Given the description of an element on the screen output the (x, y) to click on. 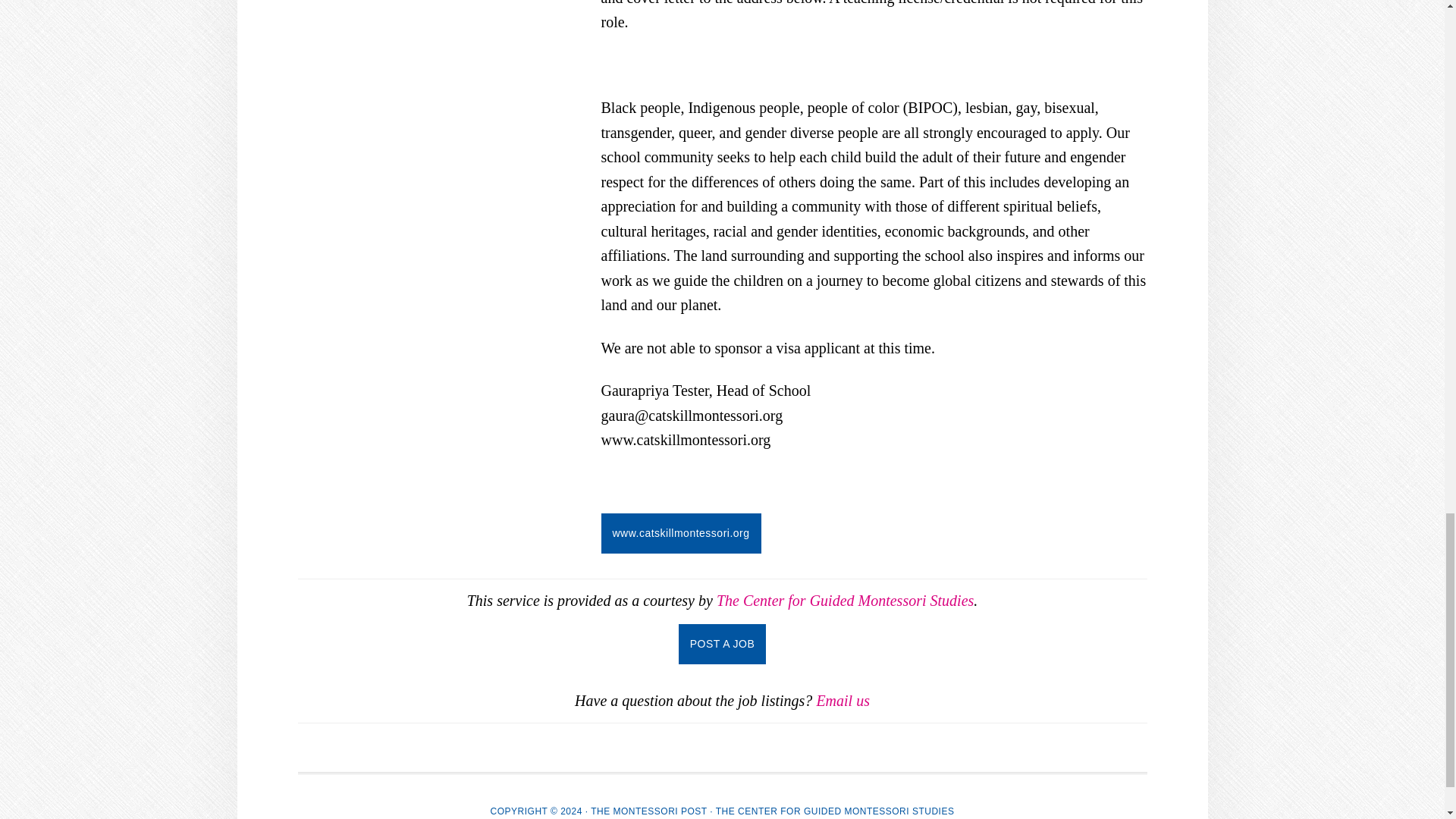
The Center for Guided Montessori Studies (845, 600)
POST A JOB (722, 644)
THE CENTER FOR GUIDED MONTESSORI STUDIES (835, 810)
Email us (842, 700)
www.catskillmontessori.org (679, 533)
